Given the description of an element on the screen output the (x, y) to click on. 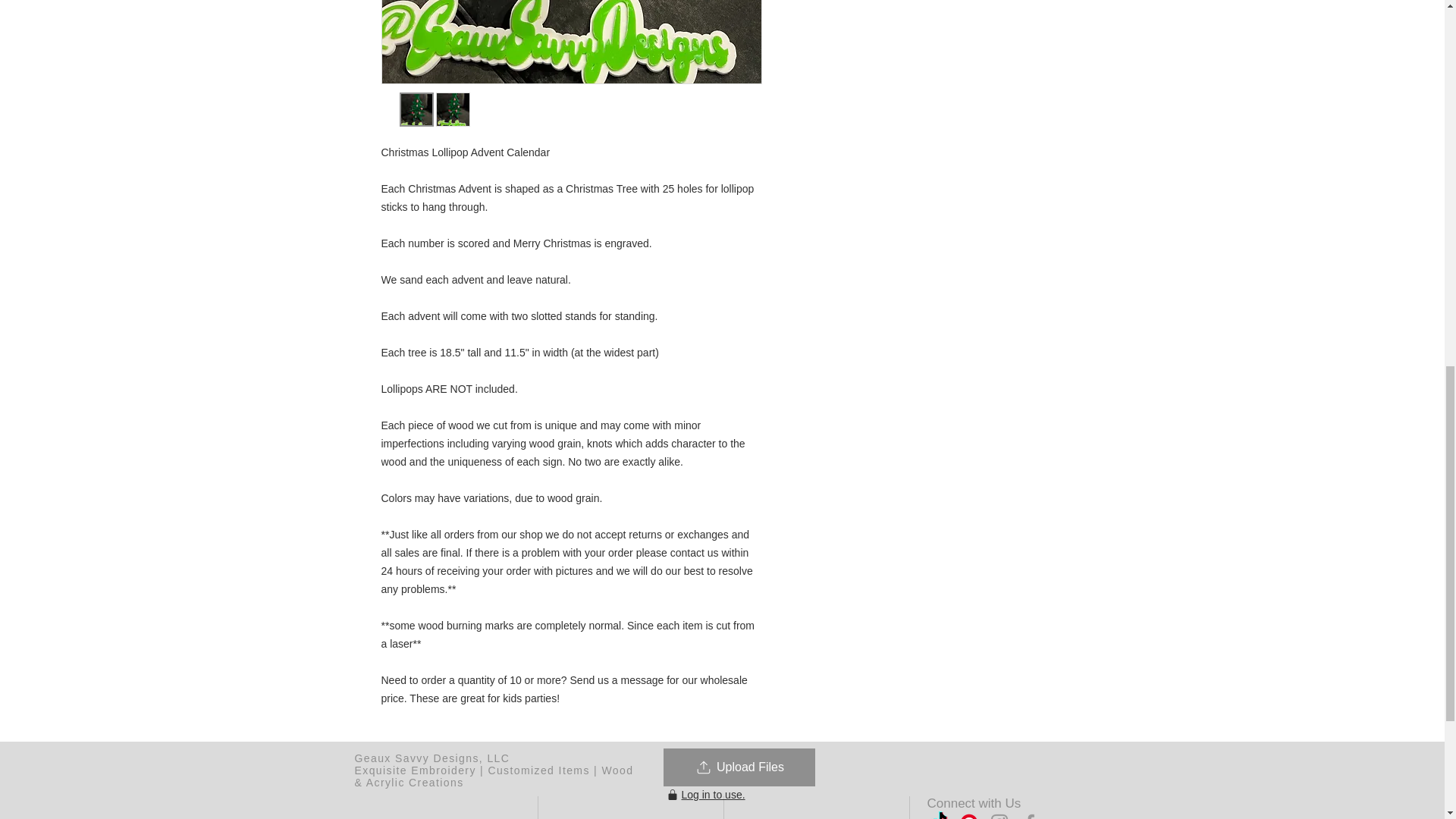
Upload Files (737, 767)
